Given the description of an element on the screen output the (x, y) to click on. 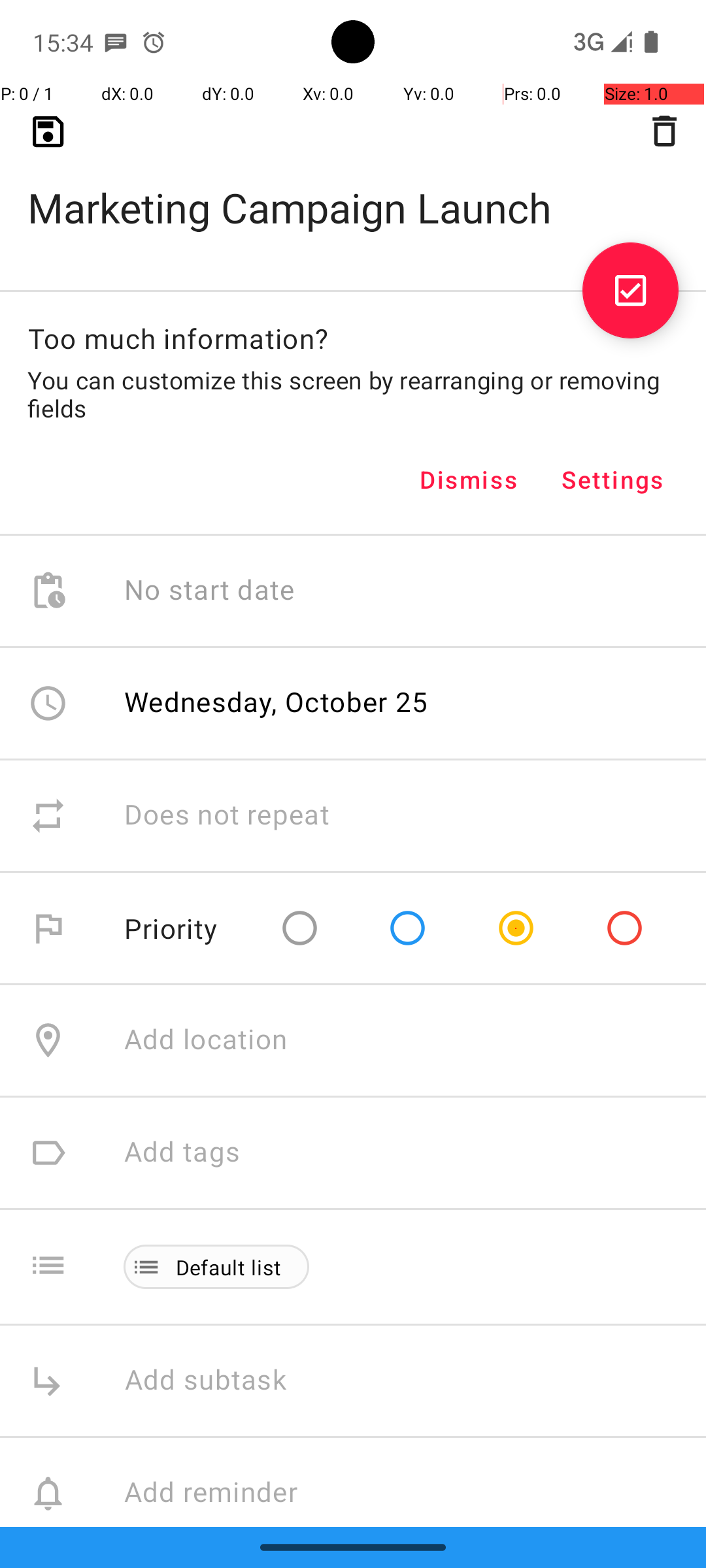
Marketing Campaign Launch Element type: android.widget.EditText (353, 186)
Wednesday, October 25 Element type: android.widget.TextView (276, 700)
